Given the description of an element on the screen output the (x, y) to click on. 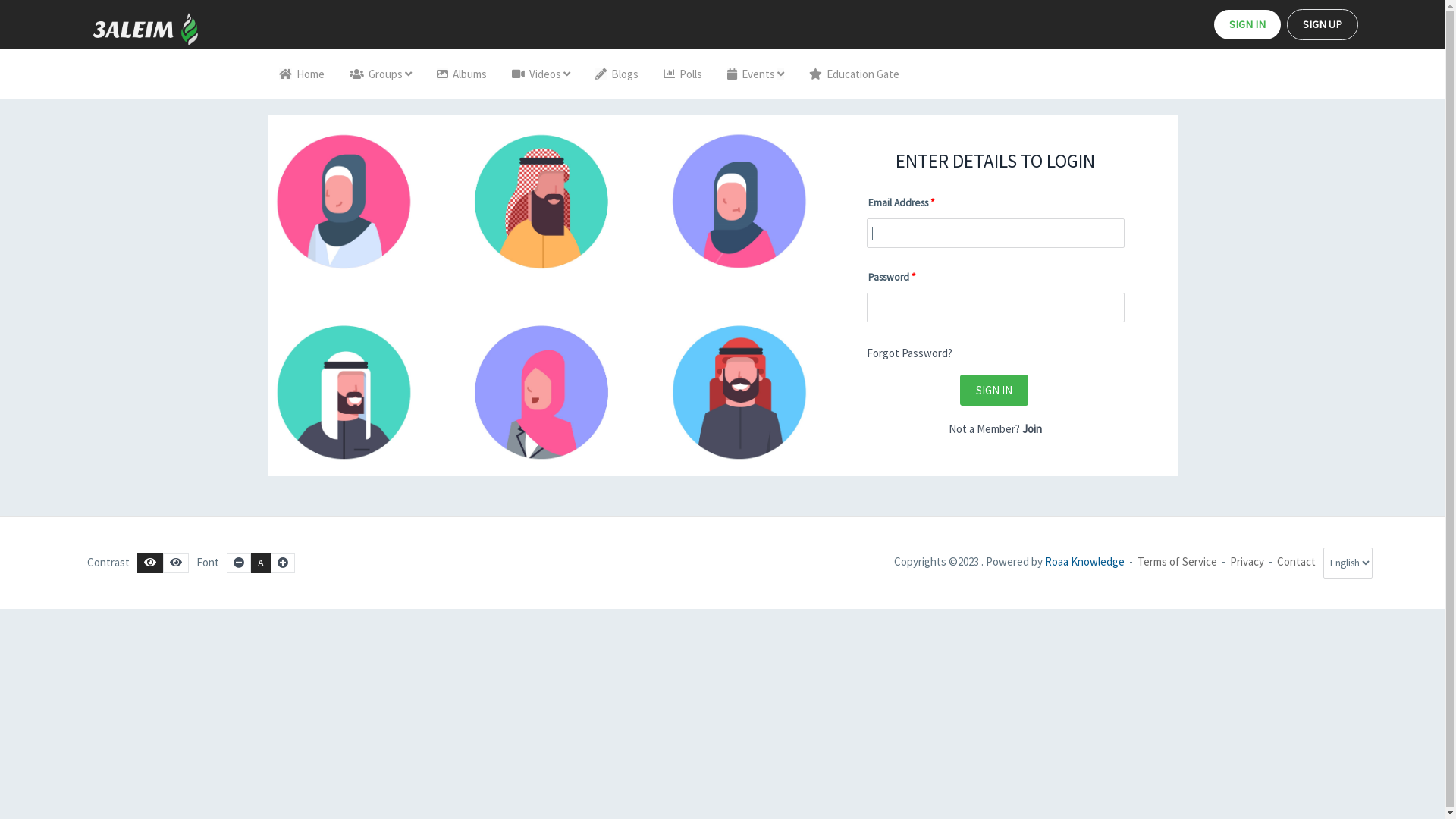
Roaa Knowledge Element type: text (1084, 561)
Albums Element type: text (460, 73)
Default Mode Element type: hover (150, 562)
Home Element type: text (300, 73)
SIGN IN Element type: text (994, 389)
Terms of Service Element type: text (1177, 561)
Education Gate Element type: text (853, 73)
Events Element type: text (755, 73)
Small Font Element type: hover (238, 562)
Large Font Element type: hover (282, 562)
Contact Element type: text (1296, 561)
Not a Member? Join Element type: text (994, 428)
Dark Mode Element type: hover (175, 562)
SIGN UP Element type: text (1322, 24)
Forgot Password? Element type: text (908, 352)
SIGN IN Element type: text (1247, 24)
Videos Element type: text (540, 73)
Groups Element type: text (380, 73)
Polls Element type: text (682, 73)
Blogs Element type: text (616, 73)
Privacy Element type: text (1247, 561)
A Element type: text (260, 562)
